Given the description of an element on the screen output the (x, y) to click on. 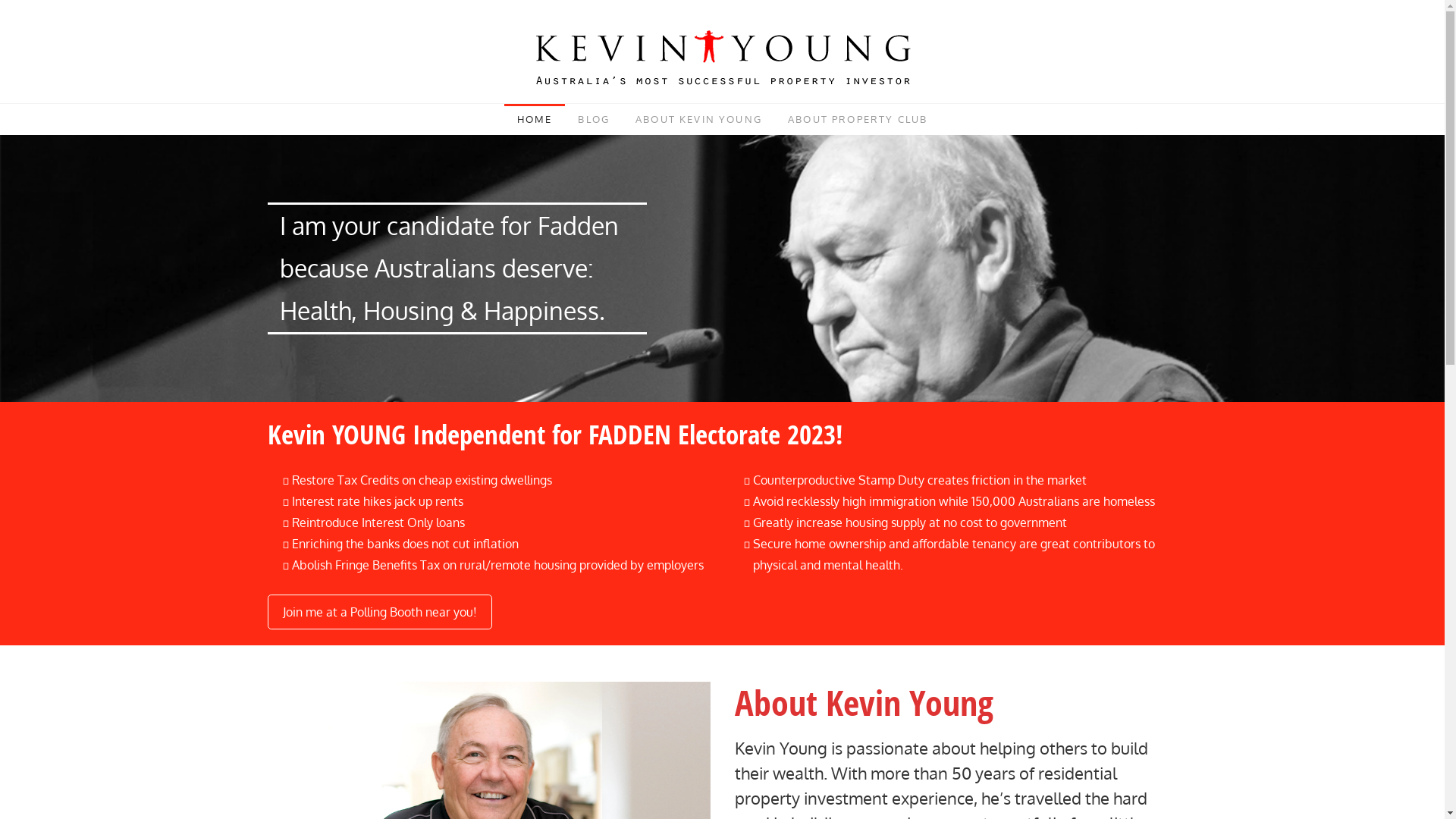
ABOUT PROPERTY CLUB Element type: text (857, 118)
ABOUT KEVIN YOUNG Element type: text (698, 118)
Join me at a Polling Booth near you! Element type: text (378, 611)
BLOG Element type: text (593, 118)
HOME Element type: text (534, 118)
